Given the description of an element on the screen output the (x, y) to click on. 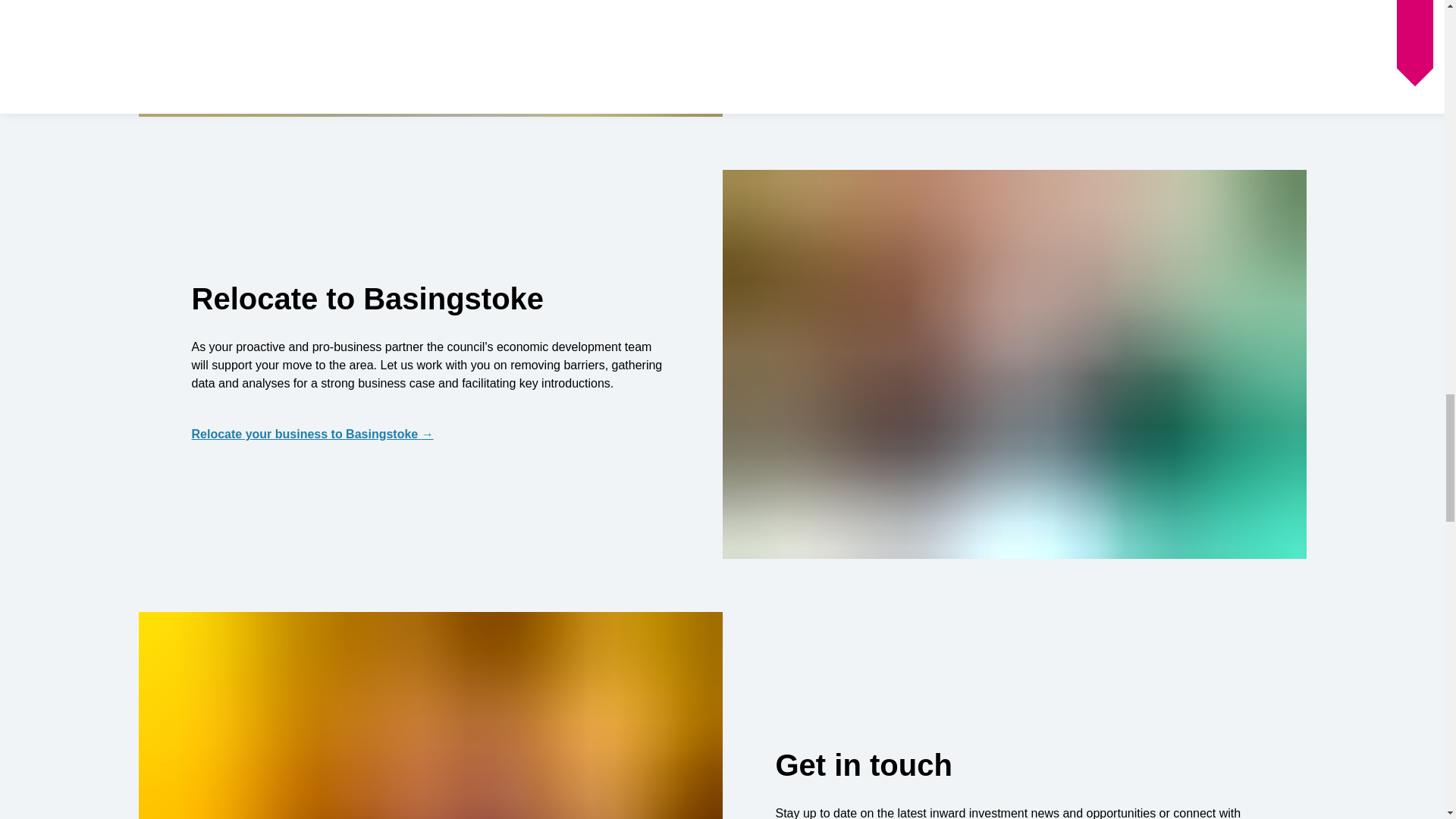
Find out more about Basingstoke's business districts (1013, 2)
Relocate your business to Basingstoke (429, 434)
